Given the description of an element on the screen output the (x, y) to click on. 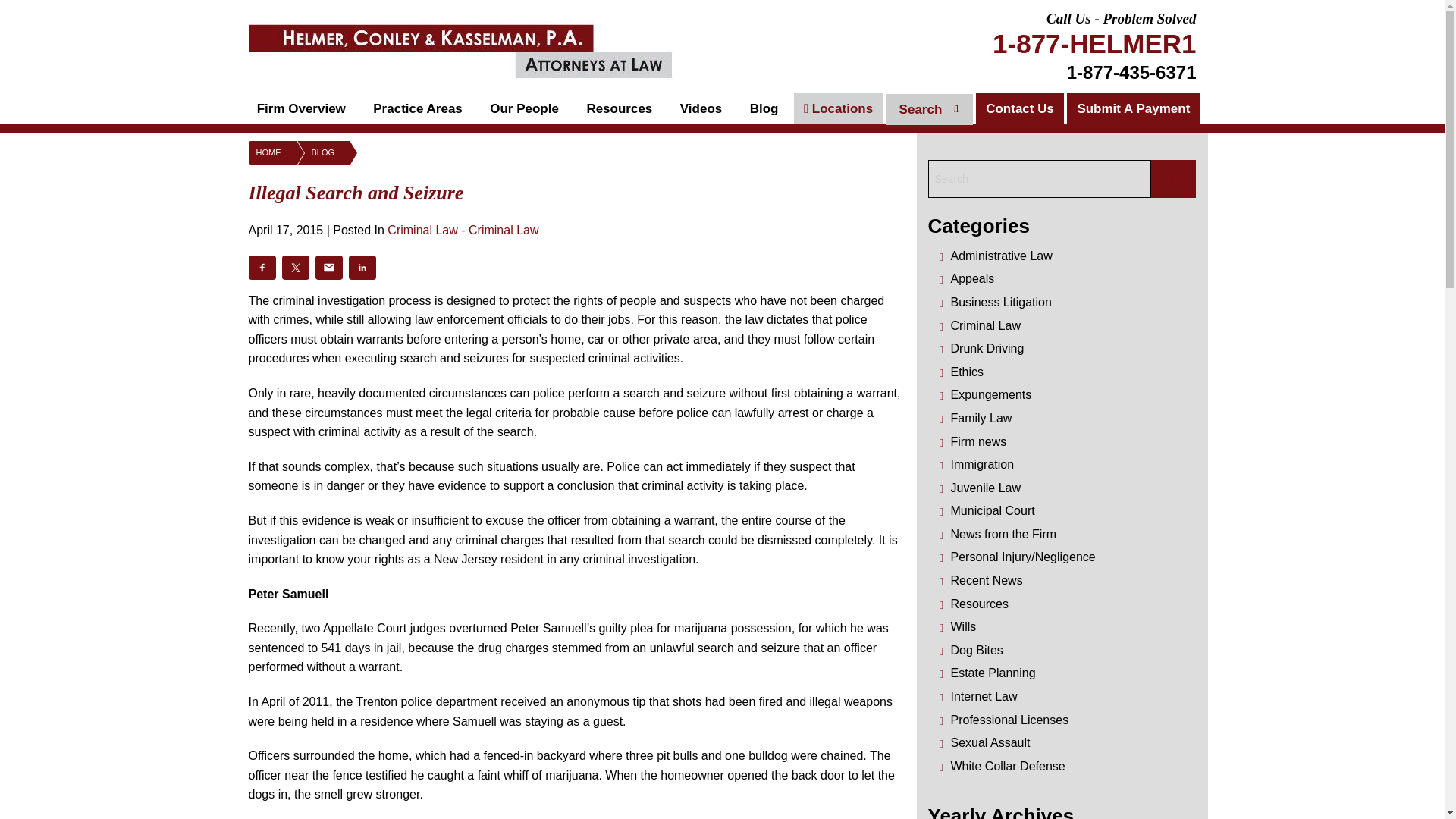
Firm Overview (301, 108)
HOME (264, 152)
Our People (523, 108)
Videos (700, 108)
Criminal Law (985, 325)
Practice Areas (417, 108)
Ethics (967, 371)
1-877-HELMER1 (1093, 43)
Expungements (991, 394)
Blog (764, 108)
Contact Us (1019, 108)
BLOG (307, 152)
Submit A Payment (1133, 108)
Family Law (980, 418)
Appeals (972, 278)
